Given the description of an element on the screen output the (x, y) to click on. 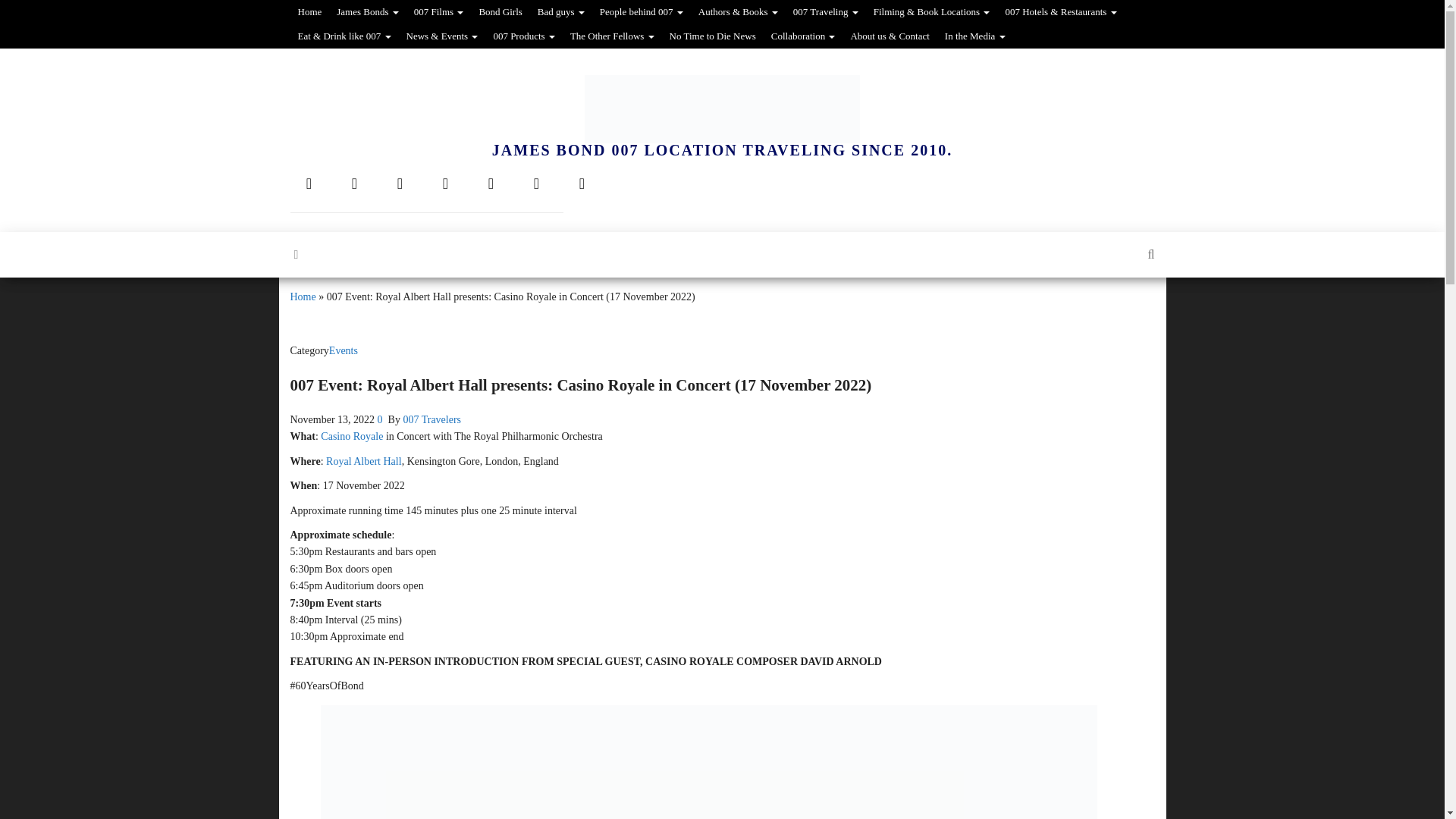
Home (309, 12)
007 Films (438, 12)
Home (309, 12)
007 Films (438, 12)
James Bonds (367, 12)
James Bonds (367, 12)
